Given the description of an element on the screen output the (x, y) to click on. 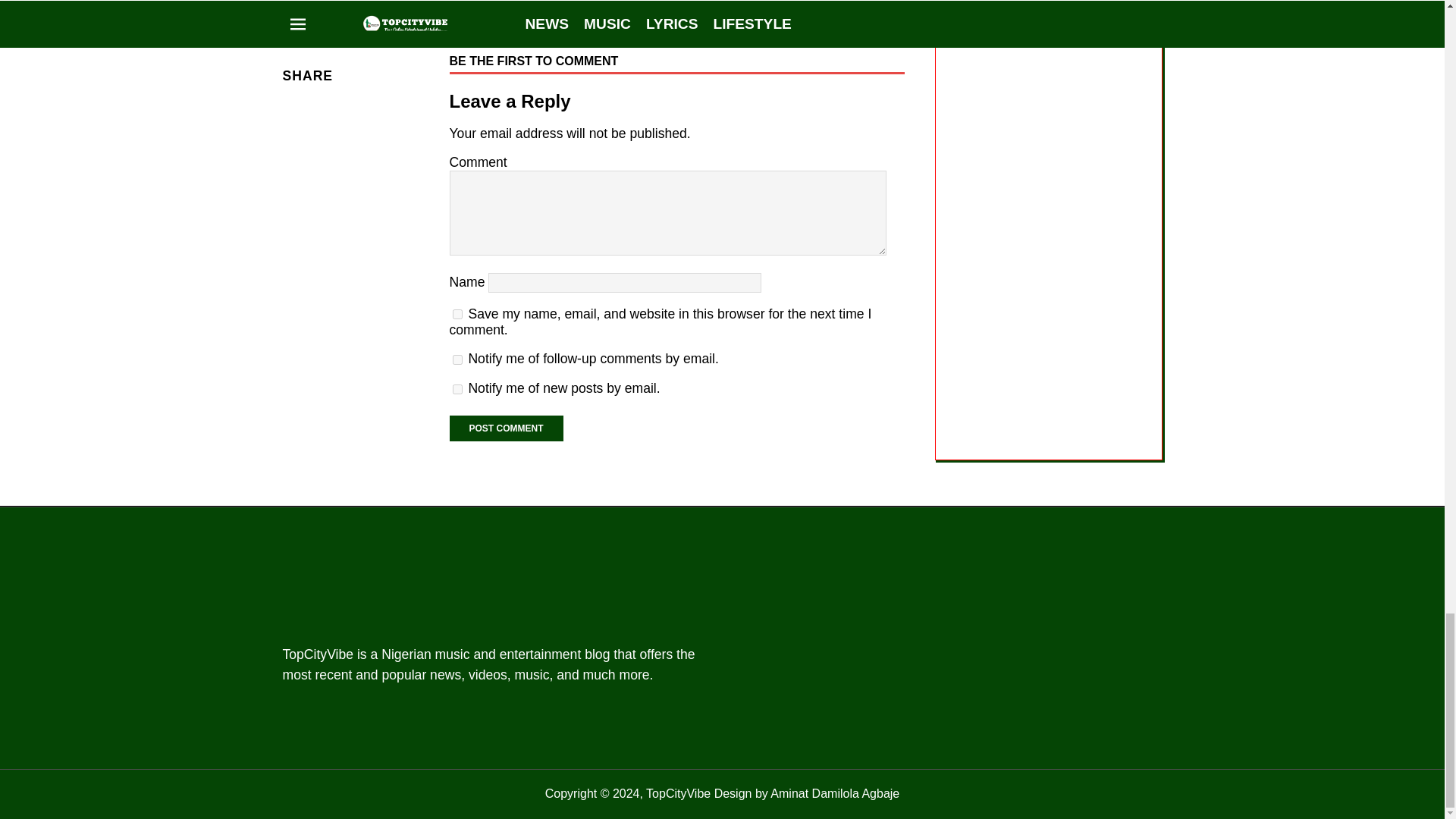
yes (456, 314)
Post Comment (505, 428)
subscribe (456, 388)
subscribe (456, 359)
